Given the description of an element on the screen output the (x, y) to click on. 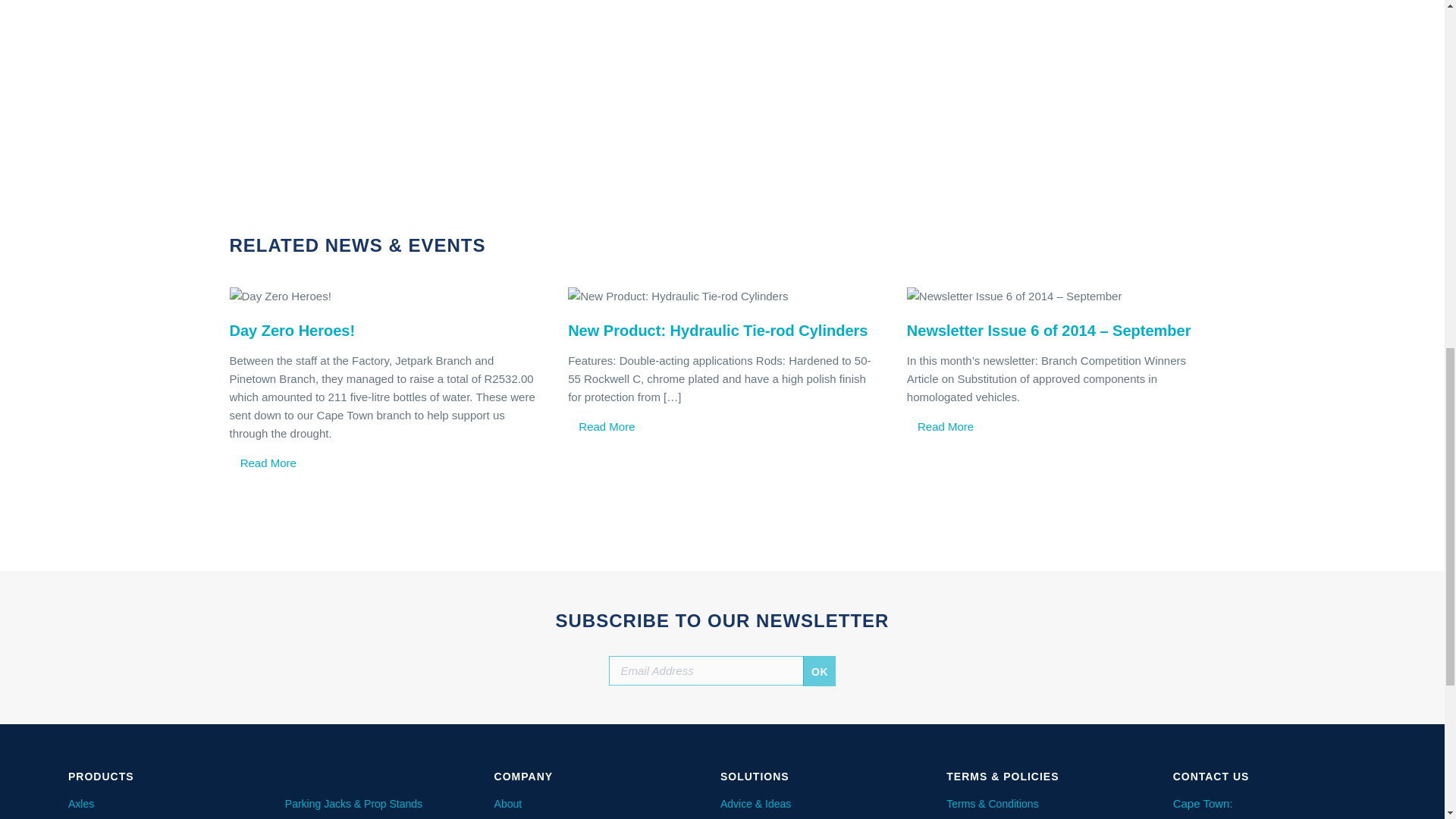
Burquip International (788, 73)
Day Zero Heroes! (382, 296)
New Product: Hydraulic Tie-rod Cylinders (721, 296)
OK (819, 670)
